Given the description of an element on the screen output the (x, y) to click on. 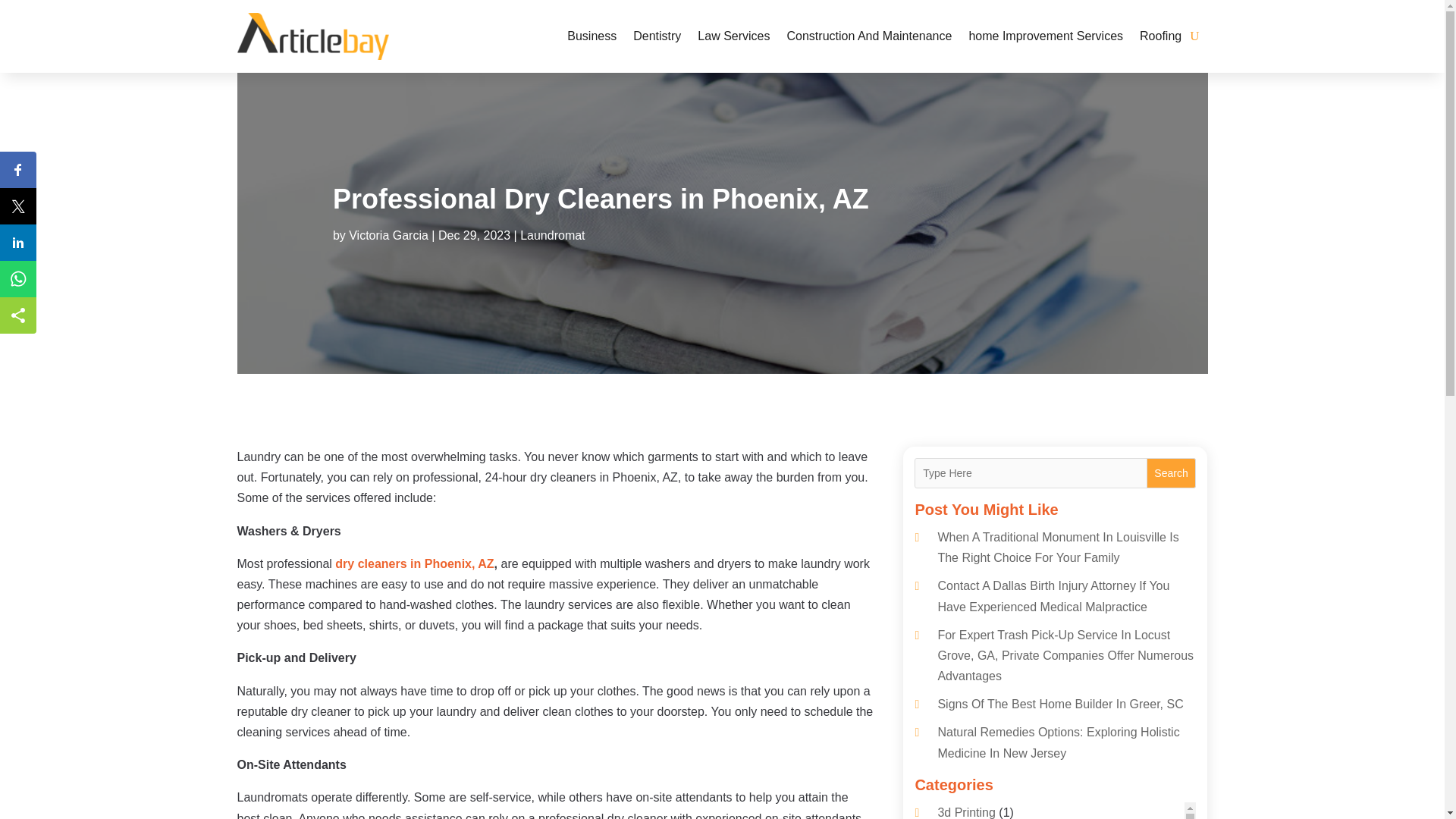
3d Printing (966, 812)
Search (1171, 472)
Construction And Maintenance (869, 36)
dry cleaners in Phoenix, AZ (413, 563)
Laundromat (552, 235)
Signs Of The Best Home Builder In Greer, SC (1059, 703)
home Improvement Services (1045, 36)
Law Services (733, 36)
Posts by Victoria Garcia (388, 235)
Victoria Garcia (388, 235)
